Given the description of an element on the screen output the (x, y) to click on. 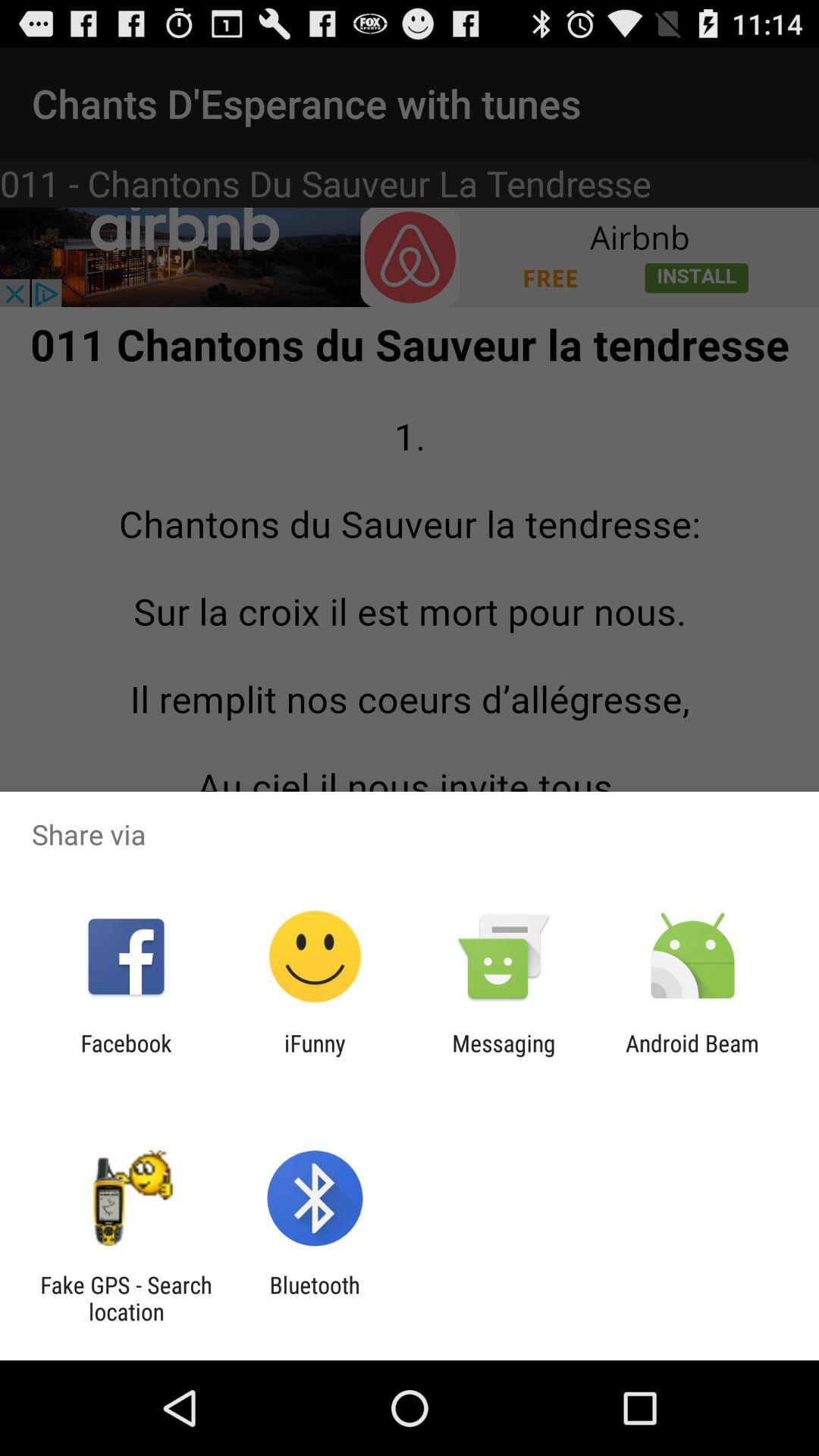
click the item next to ifunny app (503, 1056)
